Given the description of an element on the screen output the (x, y) to click on. 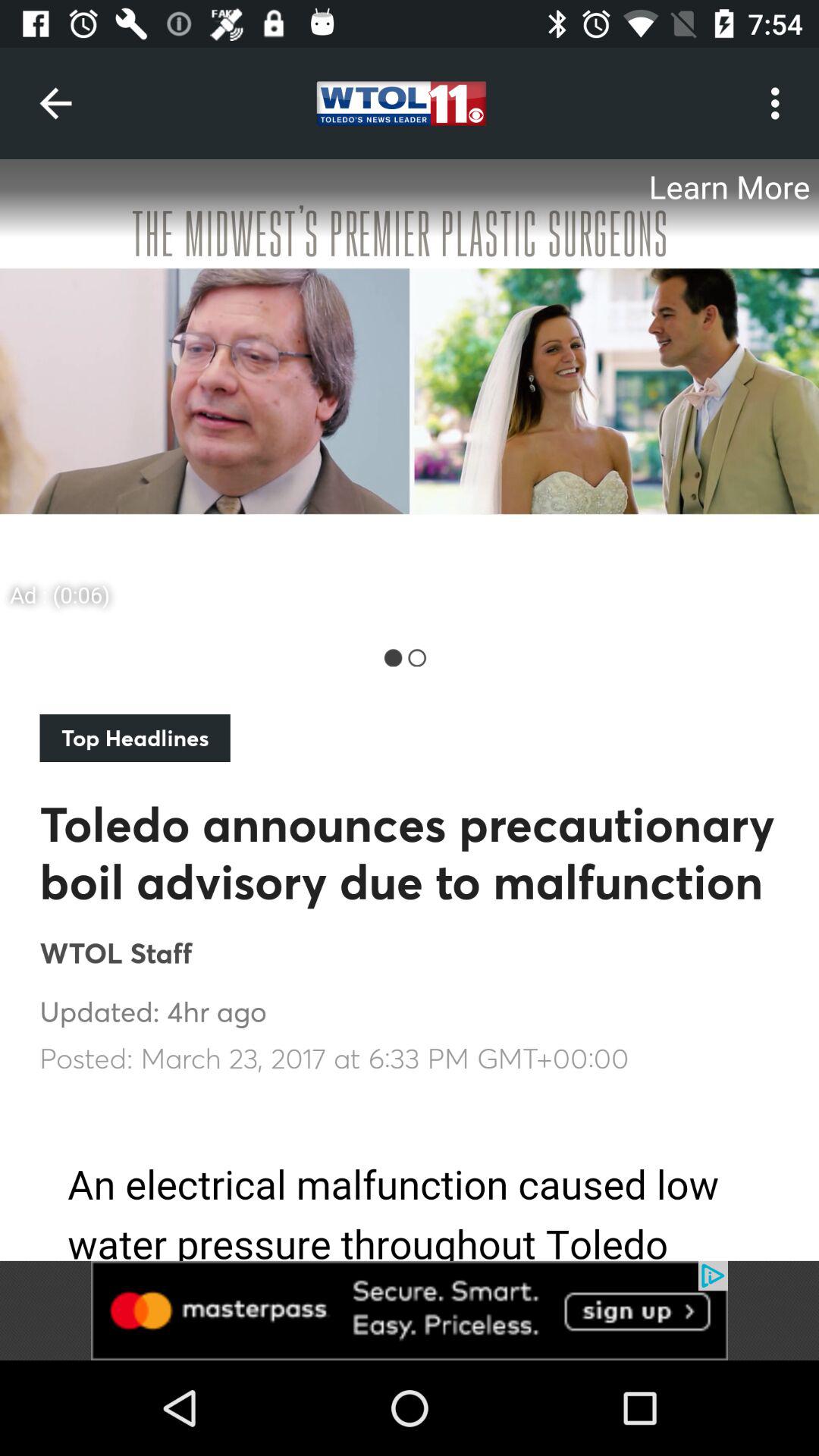
screenshot of the news given below (409, 389)
